Given the description of an element on the screen output the (x, y) to click on. 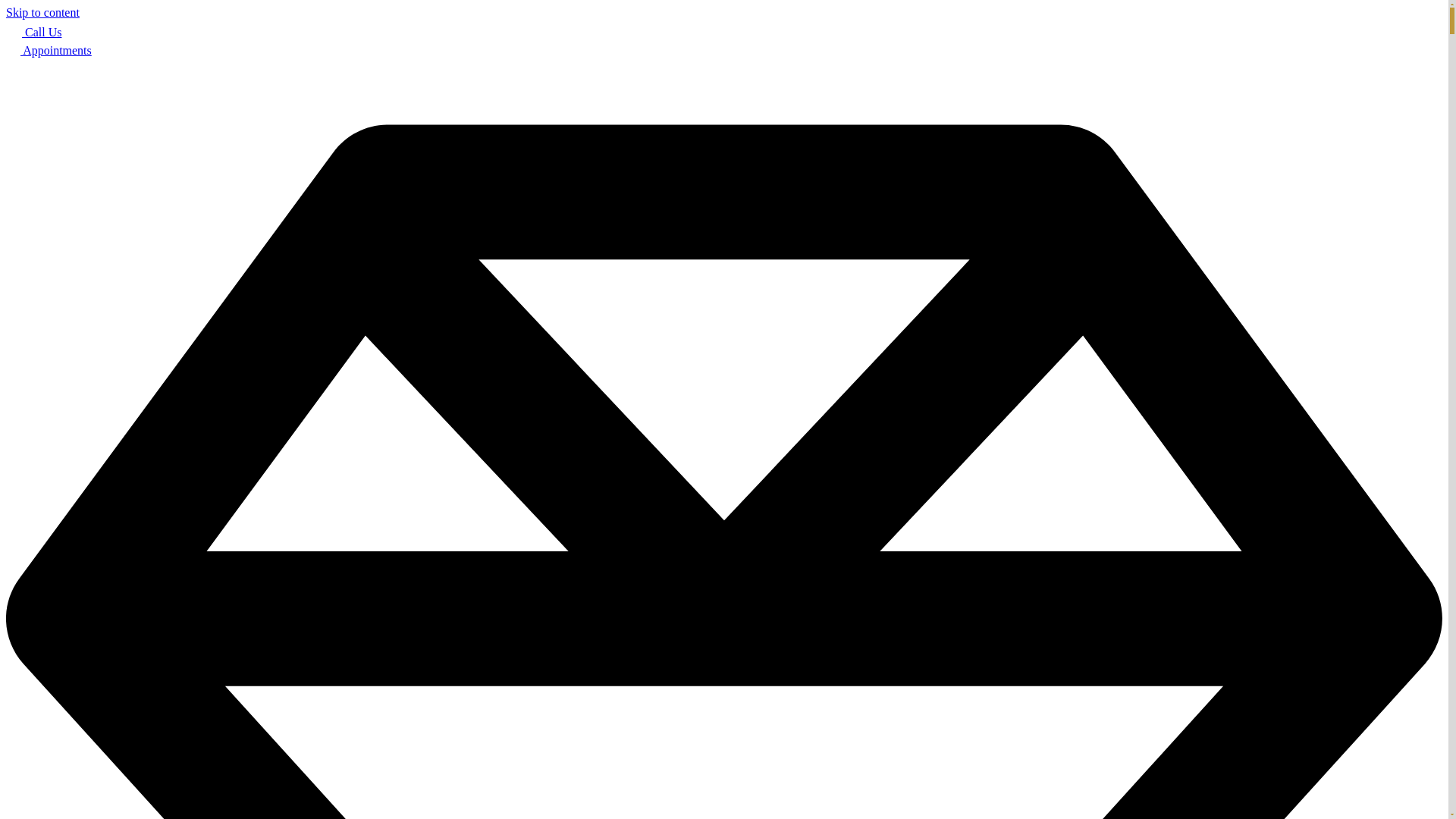
Appointments (48, 50)
Call Us (33, 31)
Skip to content (42, 11)
